Given the description of an element on the screen output the (x, y) to click on. 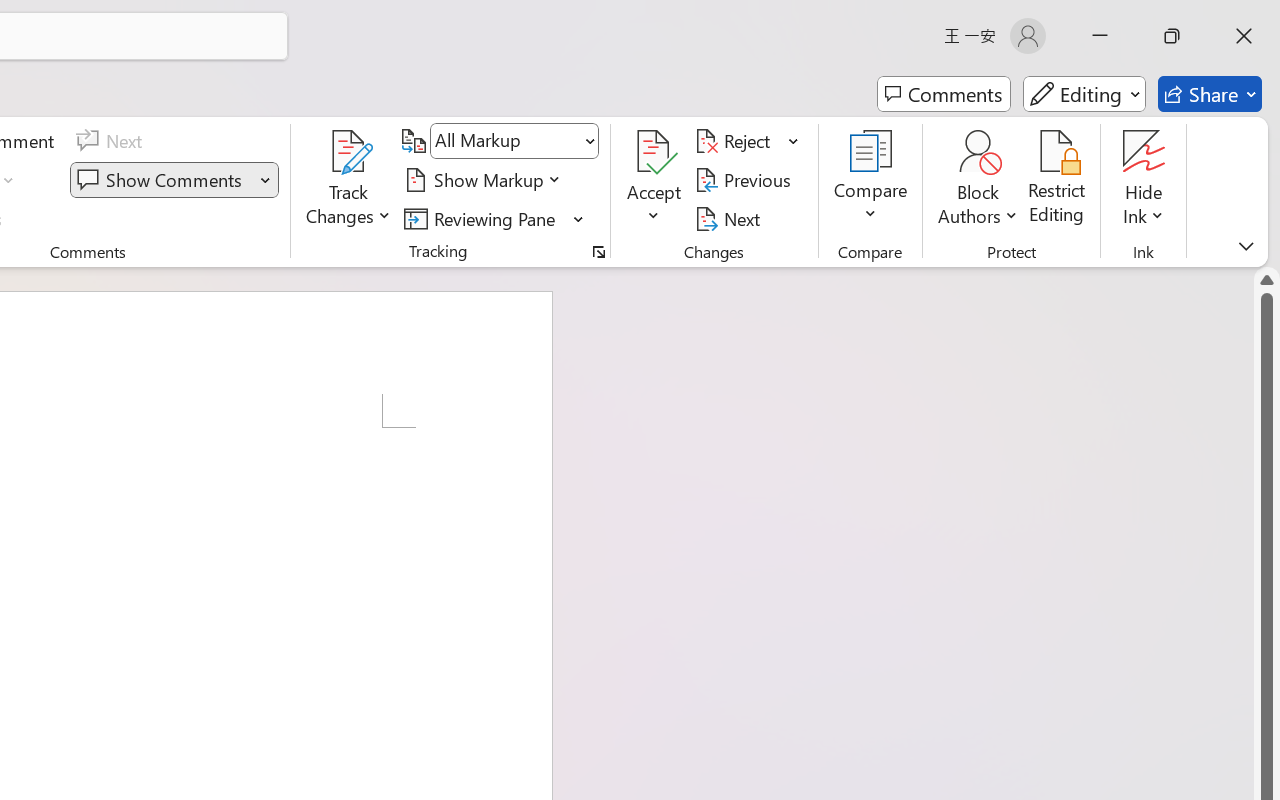
Change Tracking Options... (598, 252)
Track Changes (349, 179)
Reviewing Pane (483, 218)
Next (730, 218)
Reject and Move to Next (735, 141)
Track Changes (349, 151)
Block Authors (977, 151)
Previous (745, 179)
Reviewing Pane (494, 218)
Display for Review (514, 141)
Show Markup (485, 179)
Line up (1267, 279)
